Given the description of an element on the screen output the (x, y) to click on. 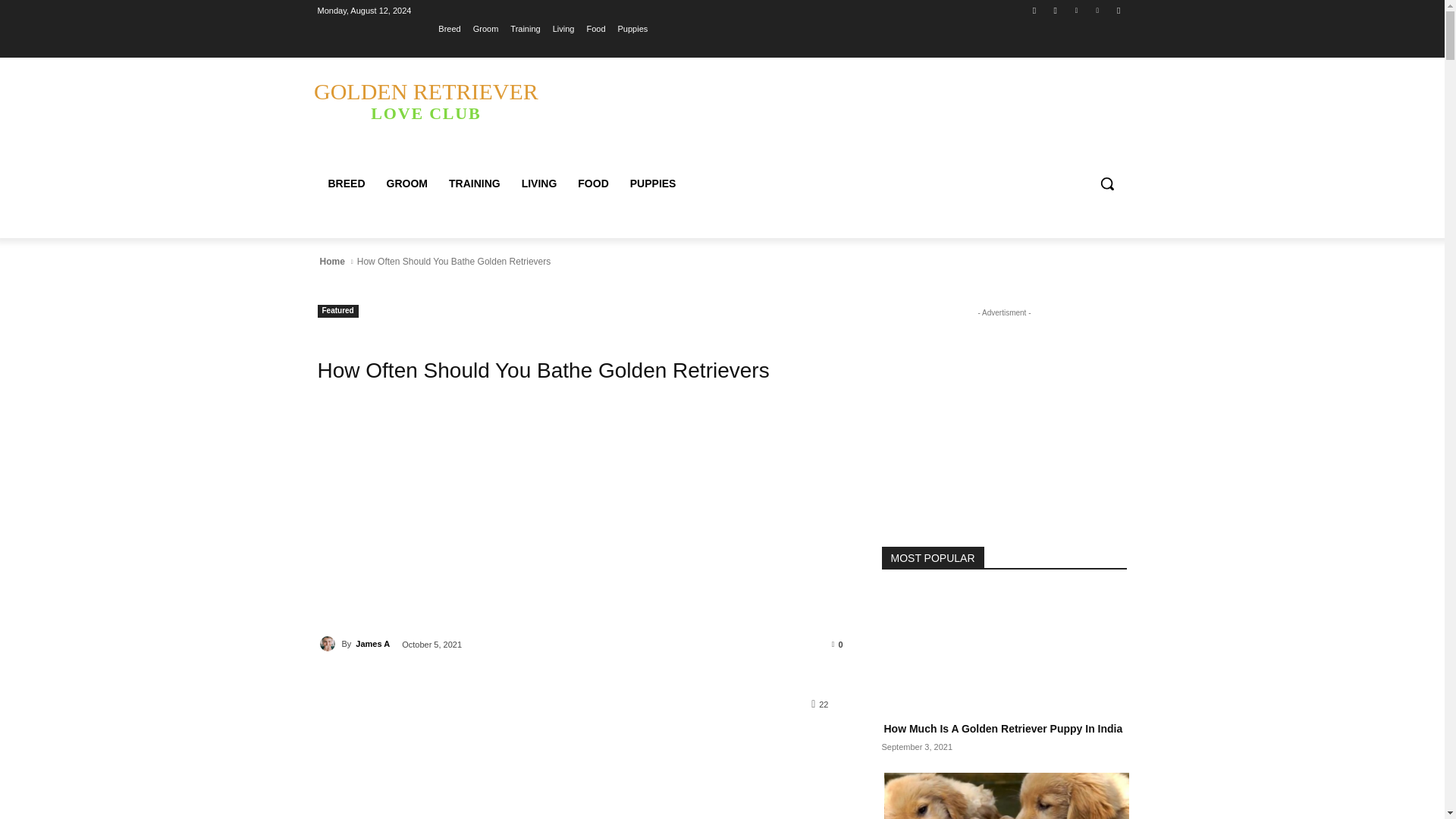
FOOD (592, 183)
Puppies (632, 28)
PUPPIES (653, 183)
BREED (346, 183)
Facebook (1034, 9)
Featured (337, 310)
Food (595, 28)
LIVING (539, 183)
James A (328, 643)
Breed (449, 28)
